Given the description of an element on the screen output the (x, y) to click on. 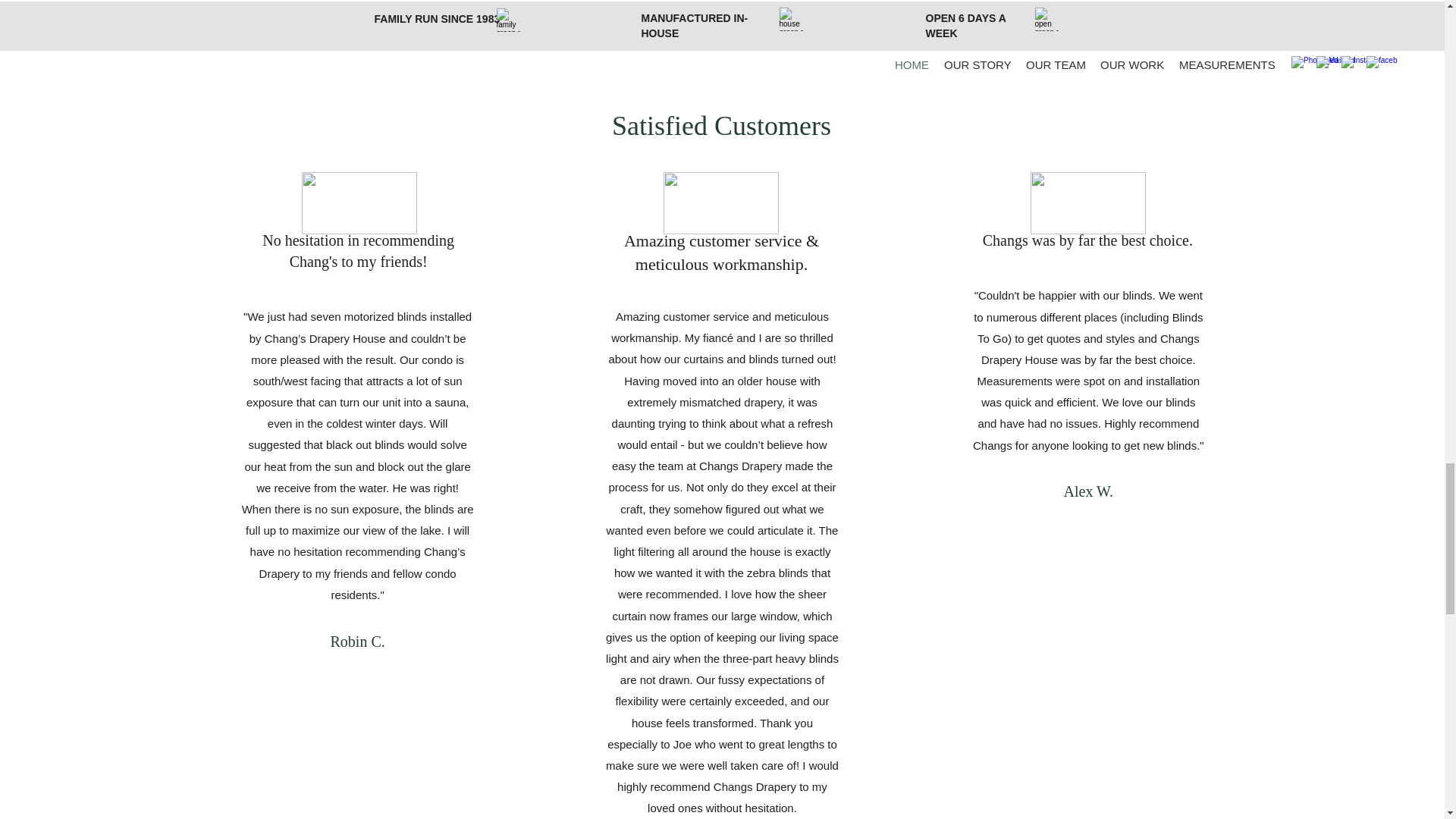
5 stars.png (1087, 202)
5 stars.png (358, 202)
5 stars.png (720, 202)
